Given the description of an element on the screen output the (x, y) to click on. 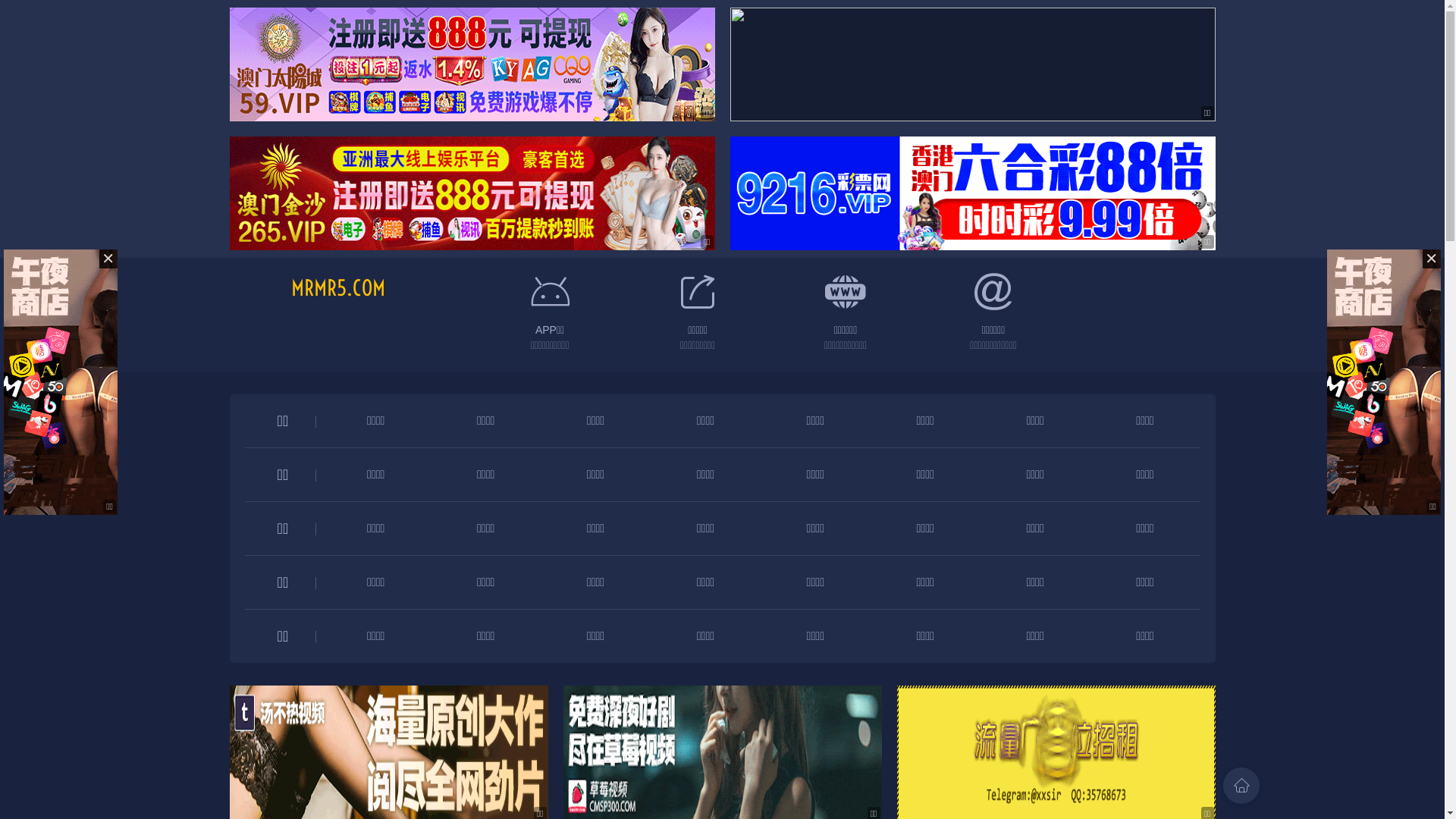
MRMR5.COM Element type: text (338, 287)
